Given the description of an element on the screen output the (x, y) to click on. 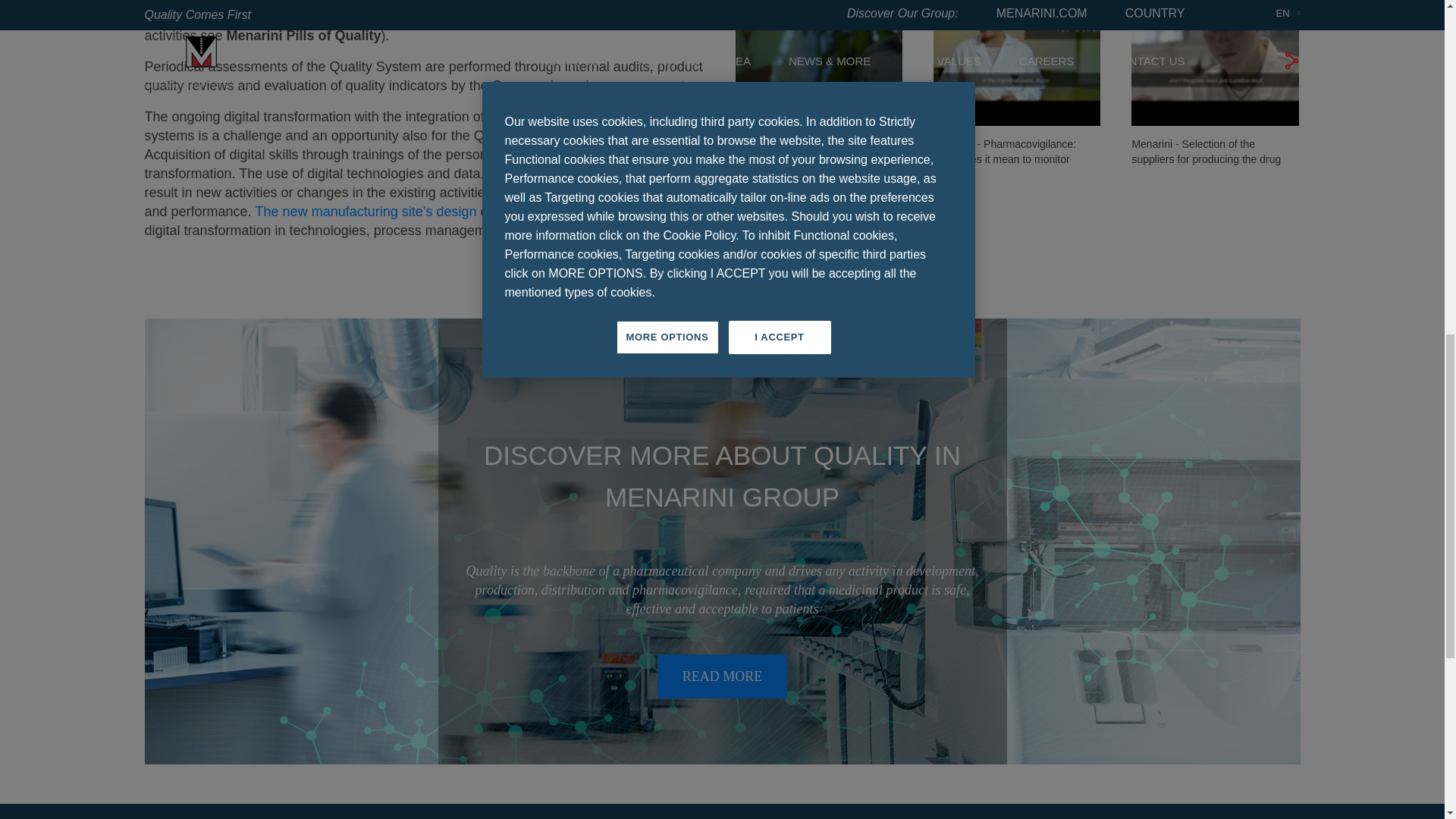
SCROLL TO TOP (1254, 29)
